Given the description of an element on the screen output the (x, y) to click on. 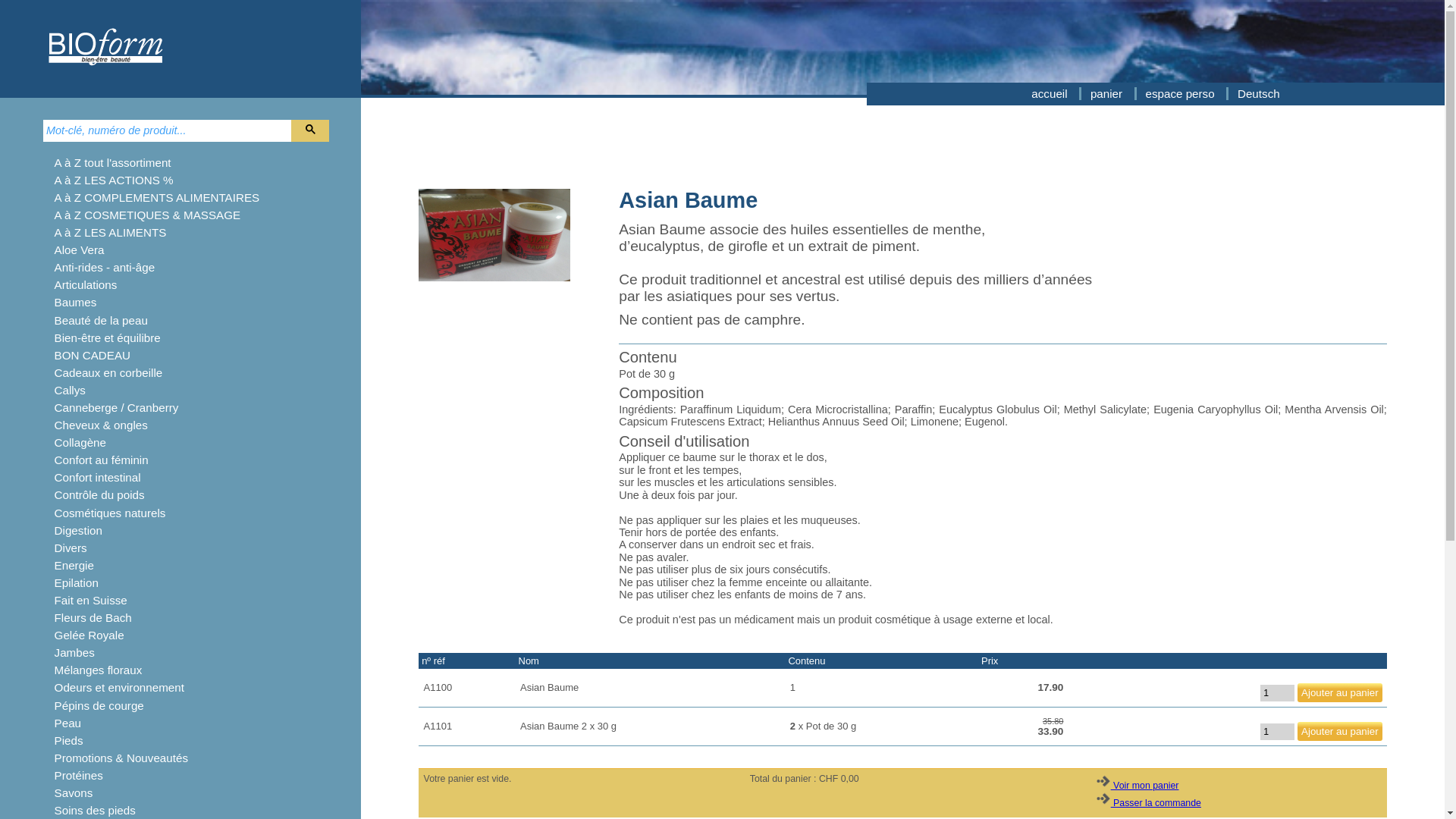
Confort intestinal Element type: text (97, 476)
Cadeaux en corbeille Element type: text (108, 372)
panier Element type: text (1107, 93)
Peau Element type: text (67, 722)
espace perso Element type: text (1181, 93)
Passer la commande Element type: text (1148, 802)
Cheveux & ongles Element type: text (100, 424)
Fait en Suisse Element type: text (90, 599)
Aloe Vera Element type: text (79, 249)
Deutsch Element type: text (1258, 93)
Voir mon panier Element type: text (1137, 785)
Odeurs et environnement Element type: text (119, 686)
Jambes Element type: text (74, 652)
Callys Element type: text (69, 389)
Pieds Element type: text (68, 740)
Savons Element type: text (73, 792)
Epilation Element type: text (76, 582)
accueil Element type: text (1050, 93)
Energie Element type: text (74, 564)
Ajouter au panier Element type: text (1339, 730)
Canneberge / Cranberry Element type: text (116, 407)
Ajouter au panier Element type: text (1339, 692)
Divers Element type: text (70, 547)
Baumes Element type: text (75, 301)
Articulations Element type: text (85, 284)
Soins des pieds Element type: text (94, 809)
Digestion Element type: text (78, 530)
Rechercher Element type: text (310, 130)
Fleurs de Bach Element type: text (92, 617)
BON CADEAU Element type: text (92, 354)
